Given the description of an element on the screen output the (x, y) to click on. 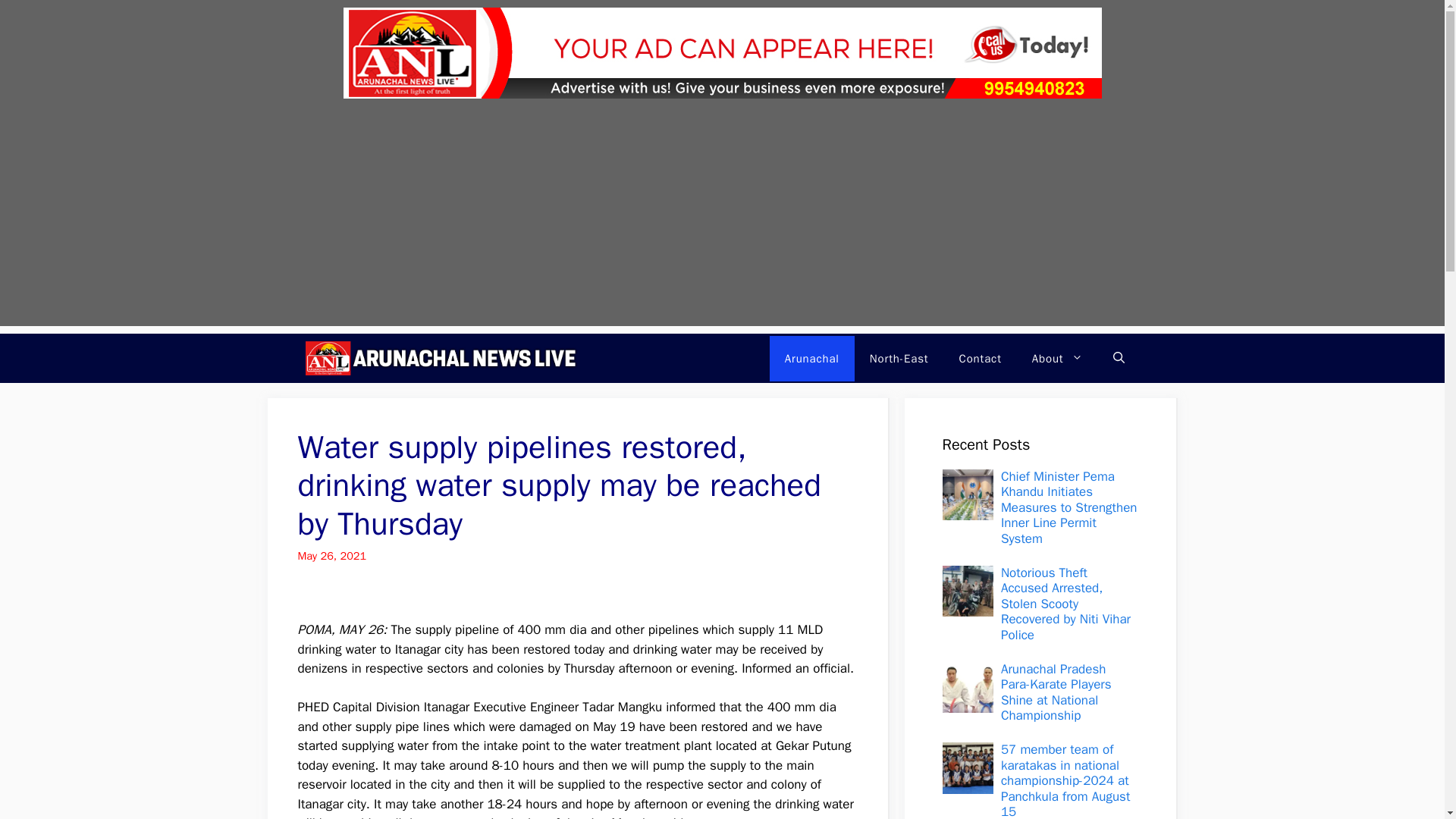
Arunachal News Live (441, 358)
About (1056, 357)
North-East (898, 357)
Contact (979, 357)
Arunachal (812, 357)
